Given the description of an element on the screen output the (x, y) to click on. 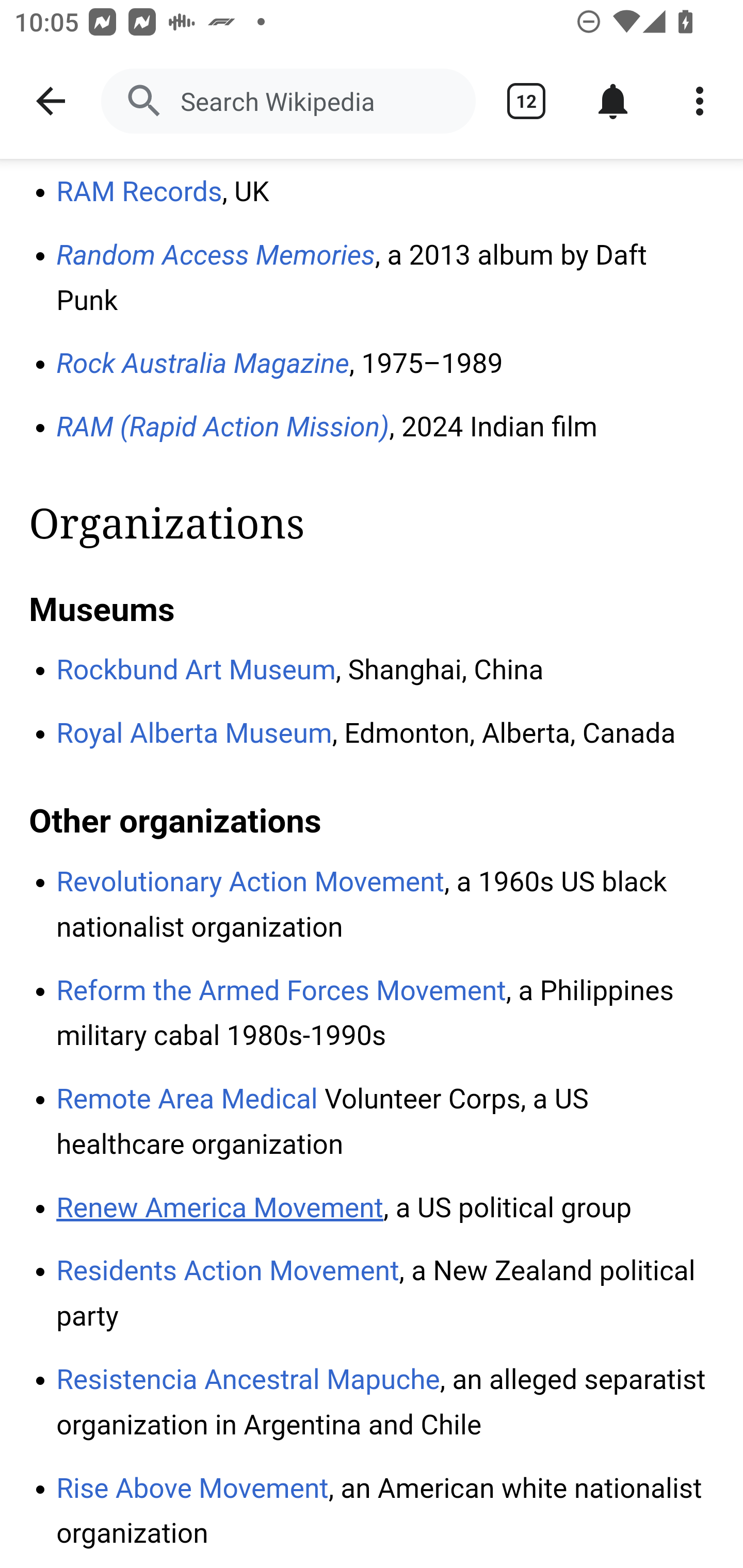
Show tabs 12 (525, 100)
Notifications (612, 100)
Navigate up (50, 101)
More options (699, 101)
Search Wikipedia (288, 100)
RAM Records (139, 192)
Random Access Memories (215, 255)
Rock Australia Magazine (202, 365)
RAM (Rapid Action Mission) (222, 427)
Rockbund Art Museum (196, 669)
Royal Alberta Museum (194, 733)
Revolutionary Action Movement (250, 882)
Reform the Armed Forces Movement (281, 991)
Remote Area Medical (187, 1099)
Renew America Movement (219, 1208)
Residents Action Movement (228, 1271)
Resistencia Ancestral Mapuche (247, 1379)
Rise Above Movement (192, 1487)
